Given the description of an element on the screen output the (x, y) to click on. 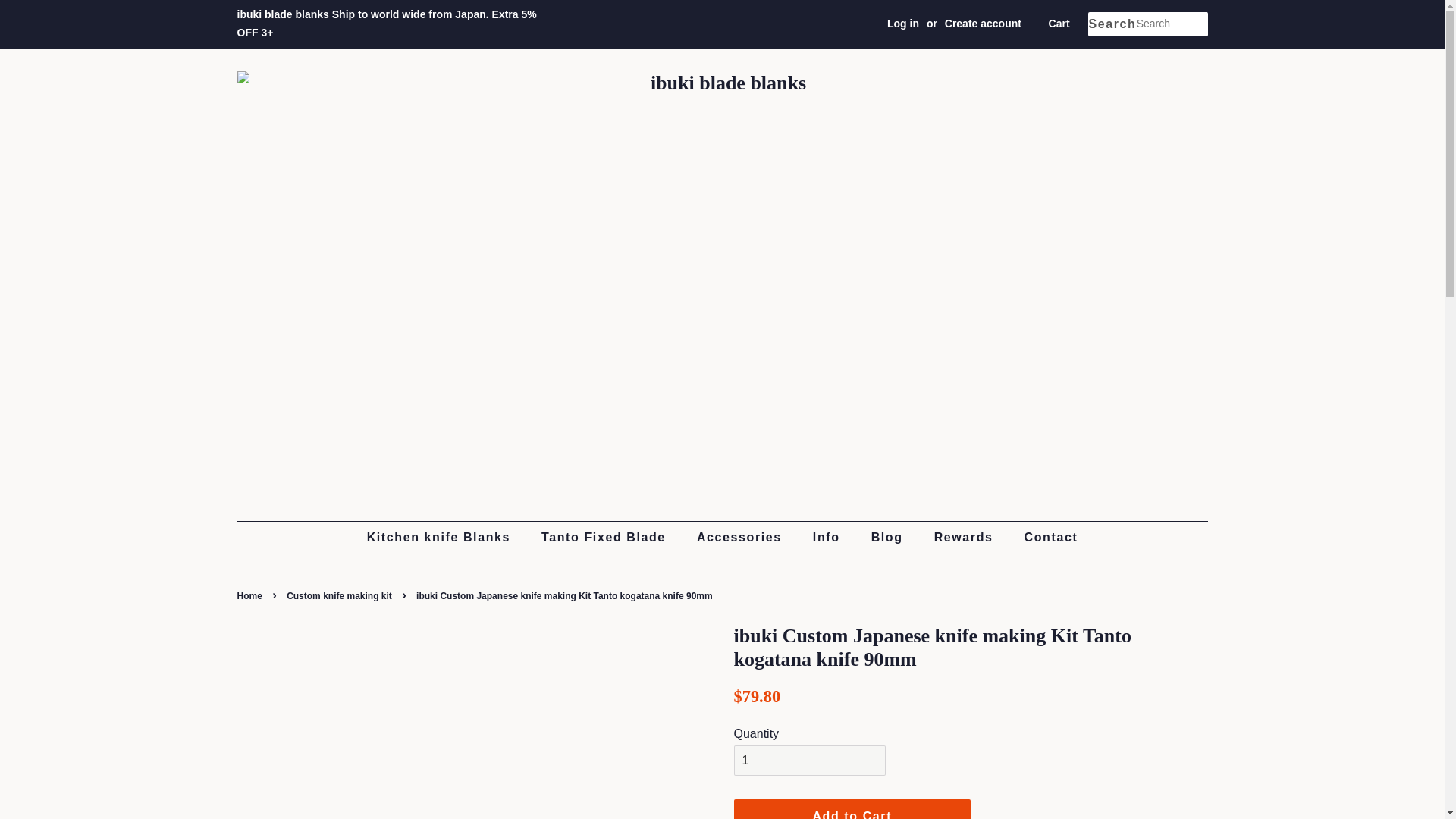
Create account (983, 23)
Cart (1059, 24)
Search (1111, 24)
1 (809, 760)
Log in (902, 23)
Back to the frontpage (249, 595)
